Given the description of an element on the screen output the (x, y) to click on. 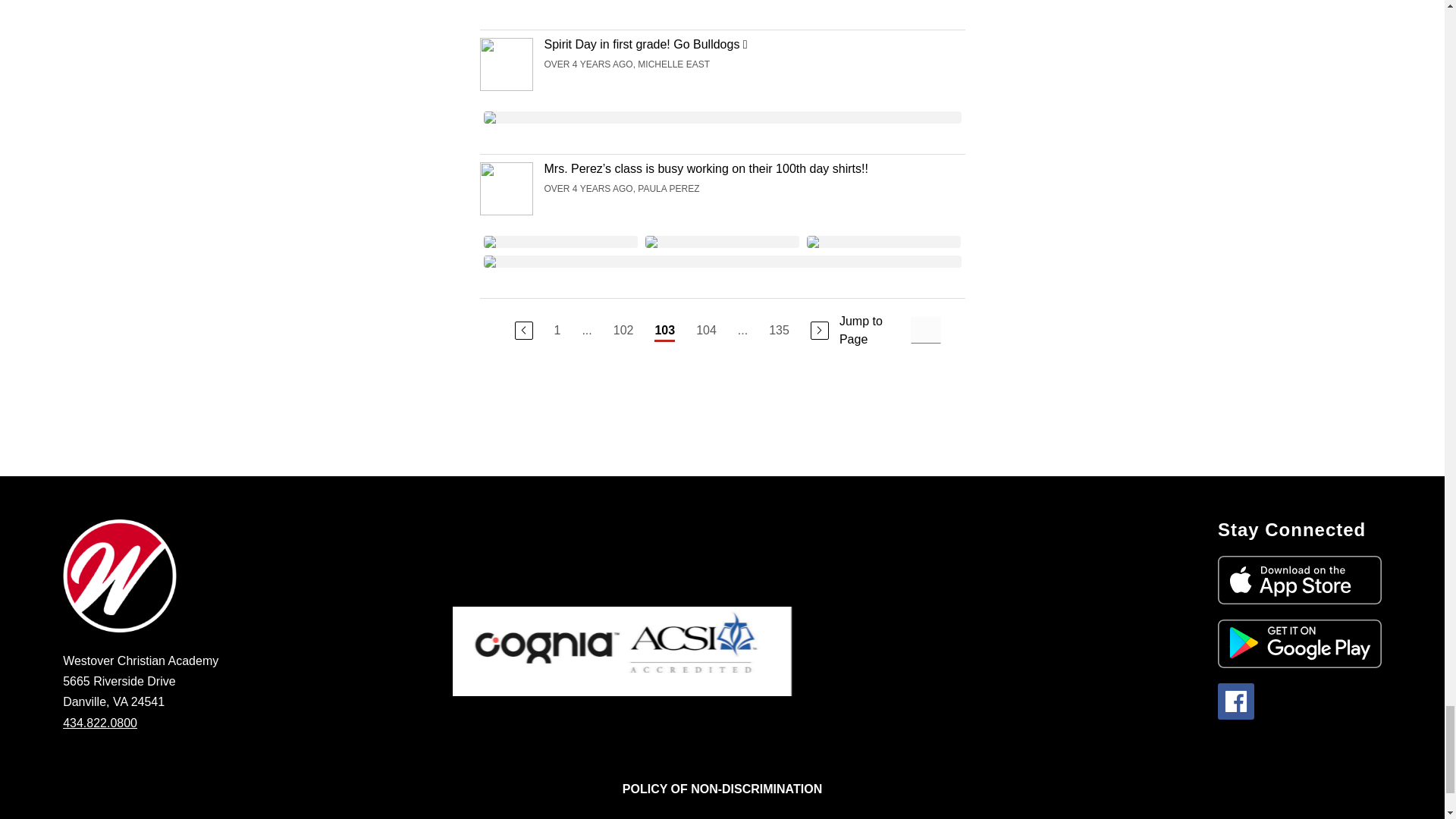
135 (778, 330)
102 (622, 330)
434.822.0800 (99, 722)
104 (705, 330)
